Given the description of an element on the screen output the (x, y) to click on. 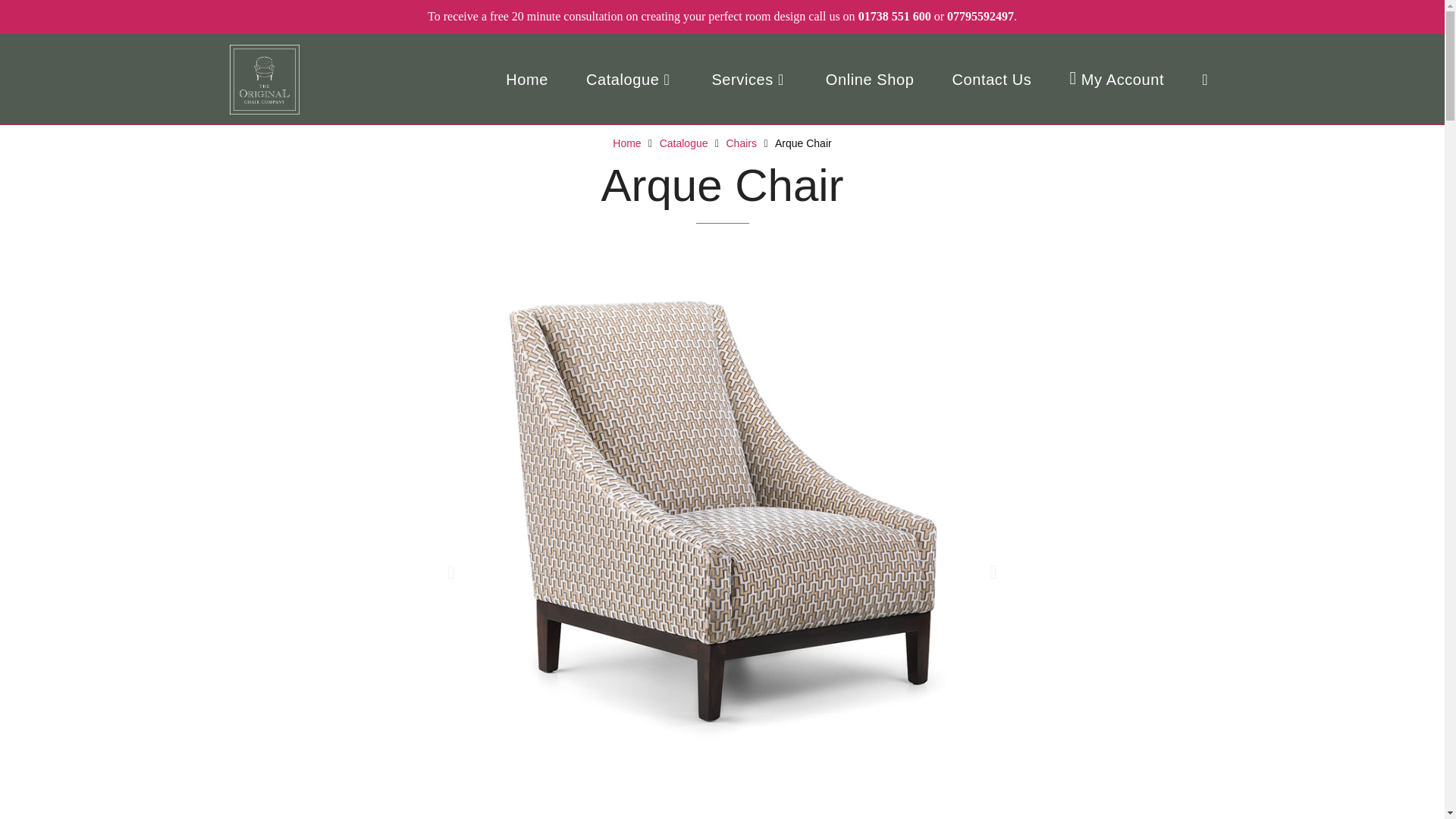
Catalogue (630, 79)
Contact Us (991, 79)
01738 551 600 (895, 15)
07795592497 (980, 15)
Home (626, 142)
Chairs (741, 142)
Home (526, 79)
Catalogue (683, 142)
Online Shop (869, 79)
Catalogue (683, 142)
Chairs (741, 142)
Services (749, 79)
Home (626, 142)
My Account (1115, 79)
